Given the description of an element on the screen output the (x, y) to click on. 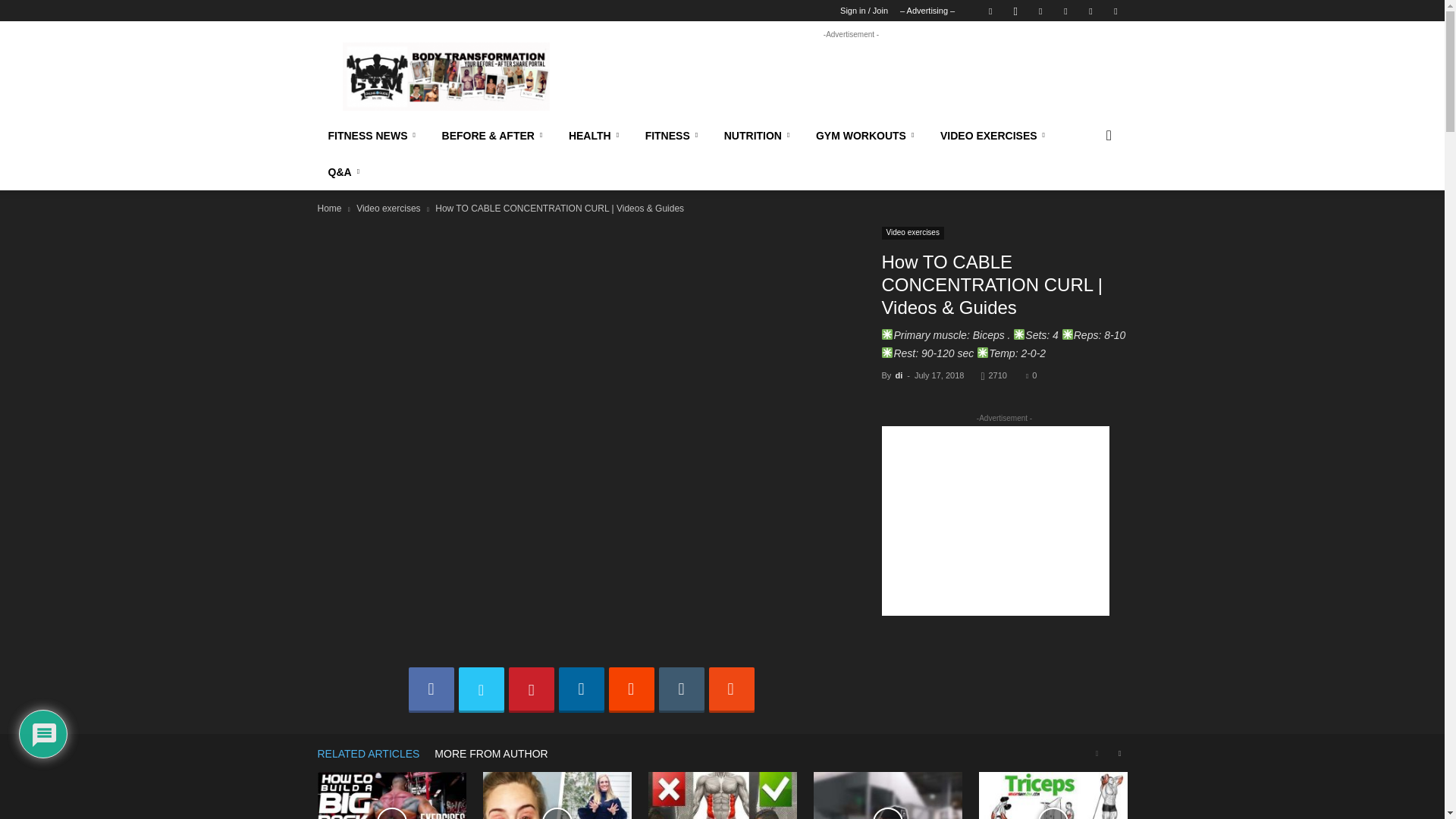
Tumblr (1090, 10)
Reddit (1065, 10)
Instagram (1015, 10)
Twitter (1114, 10)
Advertisement (850, 76)
Facebook (989, 10)
Mix (1040, 10)
